Given the description of an element on the screen output the (x, y) to click on. 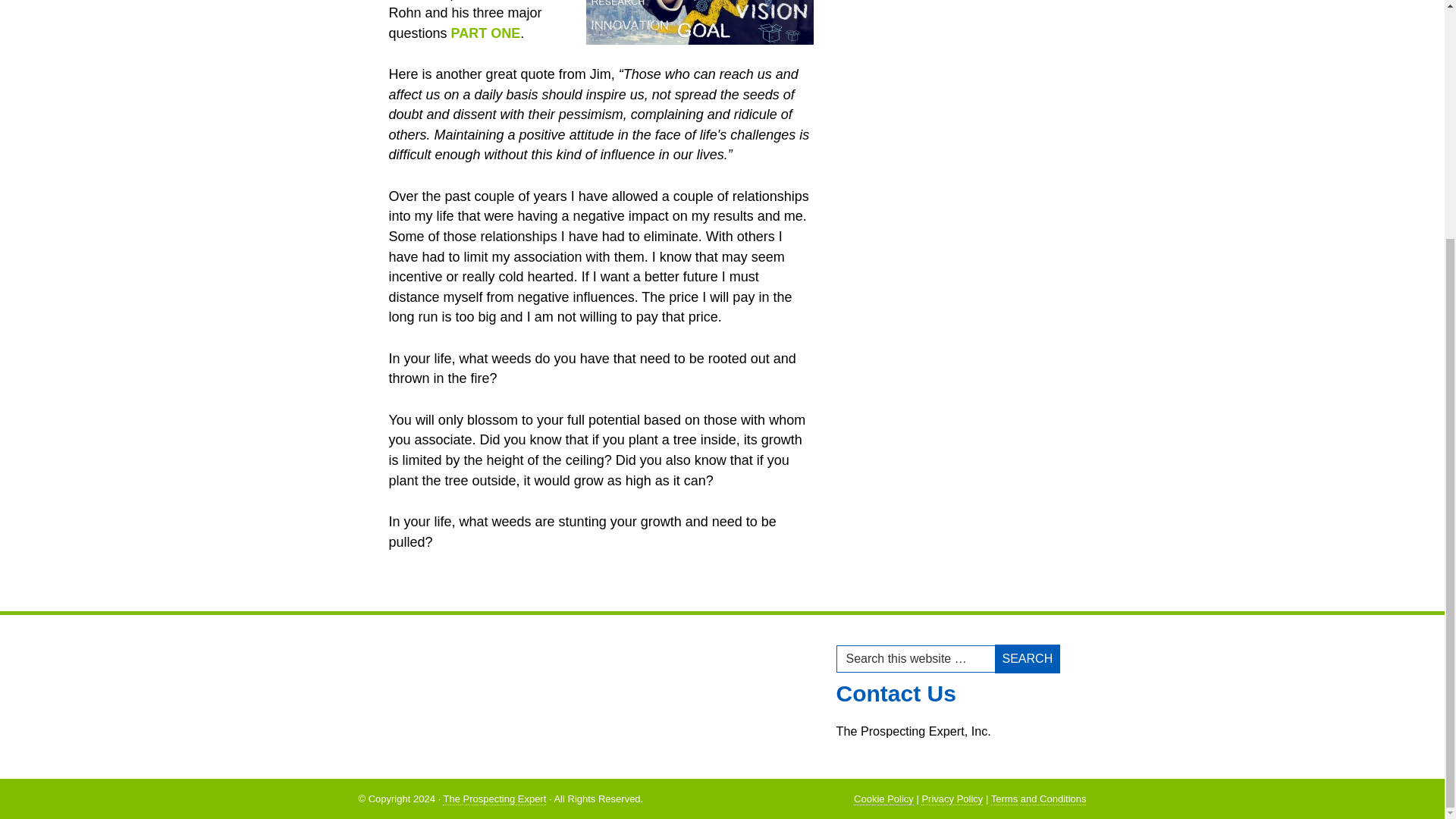
Privacy Policy (951, 799)
The Prospecting Expert (494, 799)
Growth (698, 22)
The Prospecting Expert (494, 799)
Search (1027, 658)
Terms and Conditions (1038, 799)
Cookie Policy (883, 799)
Search (1027, 658)
PART ONE (486, 32)
